Given the description of an element on the screen output the (x, y) to click on. 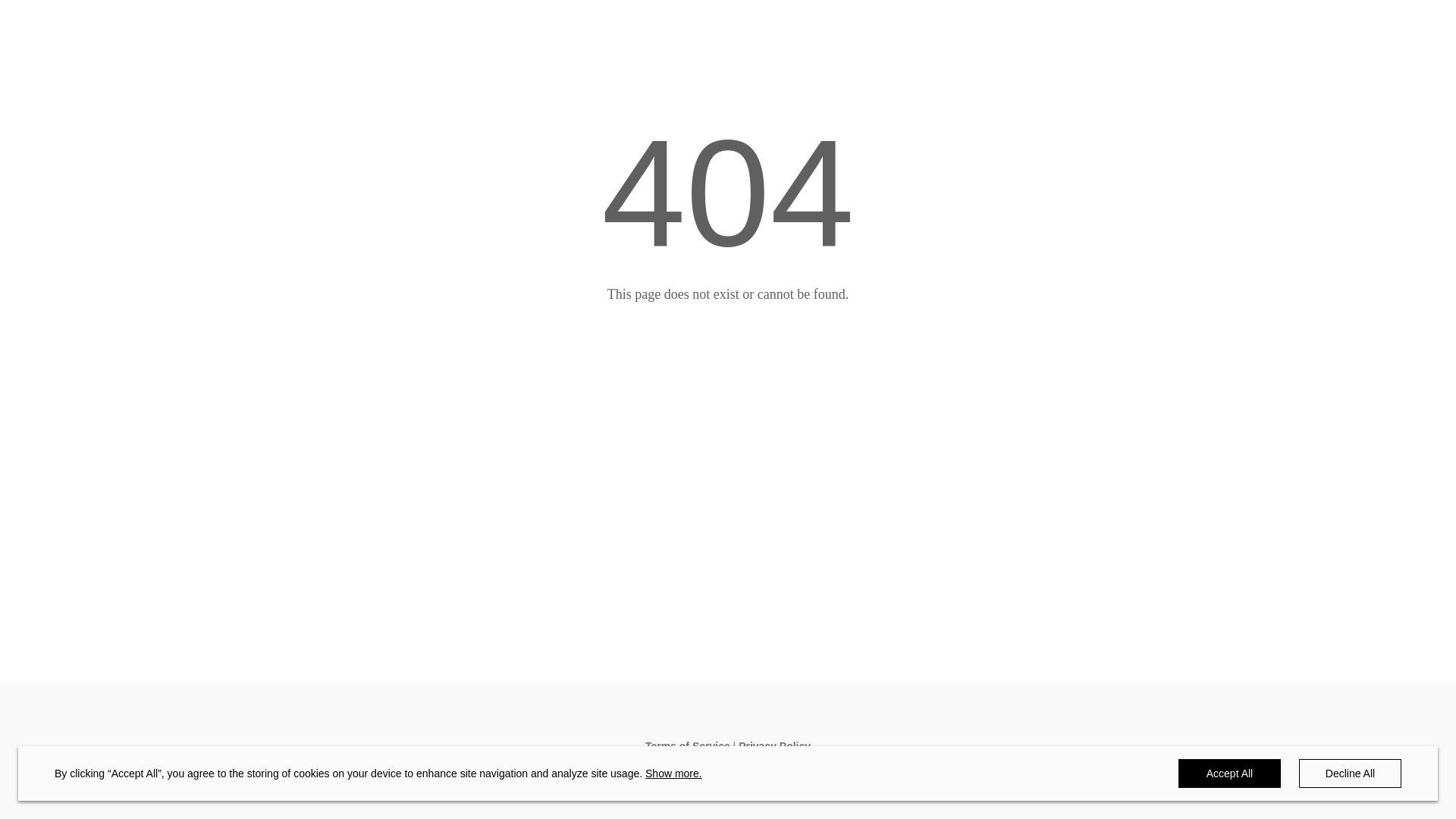
Accept All Element type: text (1229, 773)
Terms of Service Element type: text (687, 746)
Privacy Policy Element type: text (774, 746)
Decline All Element type: text (1350, 773)
